Given the description of an element on the screen output the (x, y) to click on. 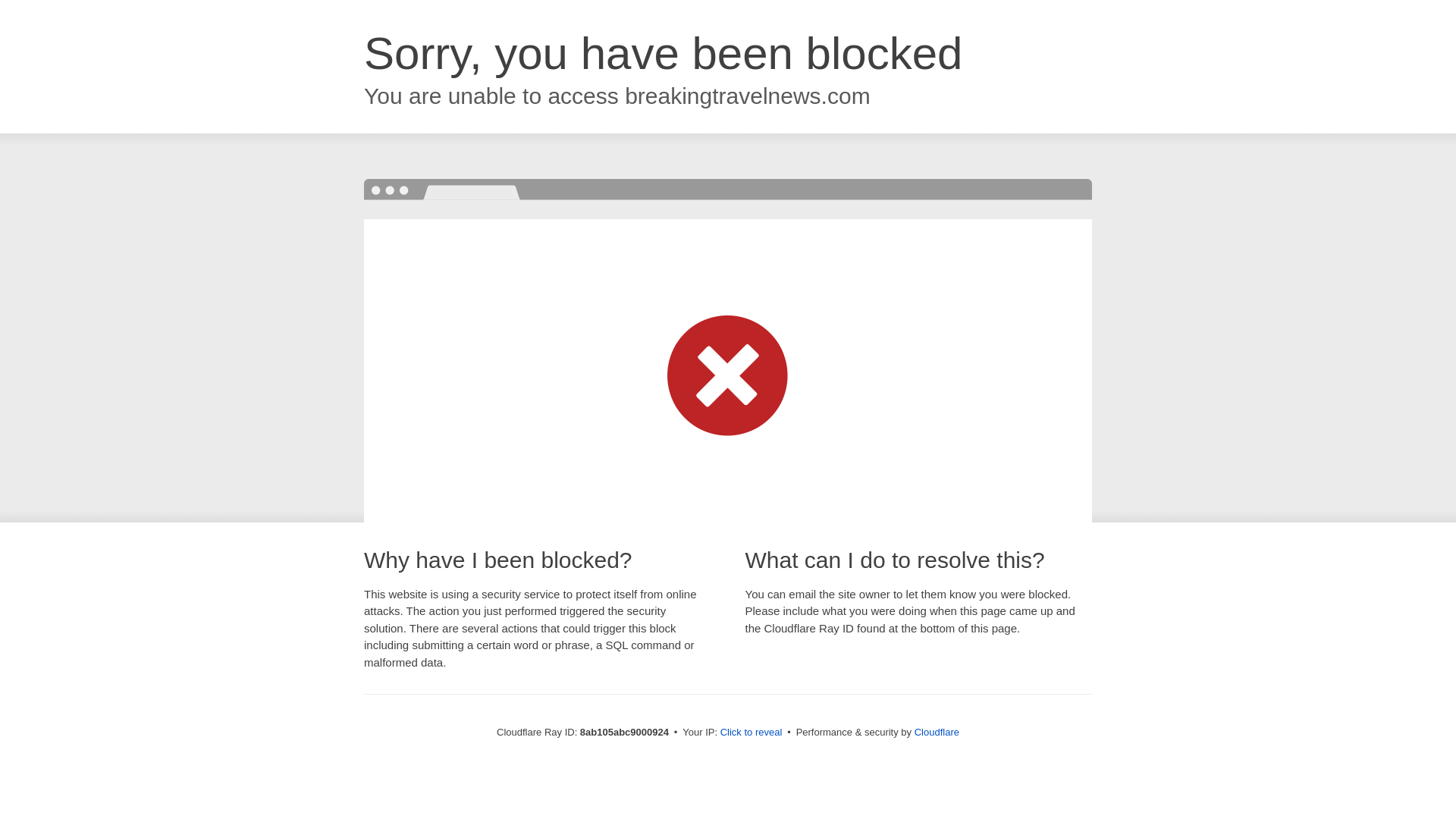
Click to reveal (751, 732)
Cloudflare (936, 731)
